Given the description of an element on the screen output the (x, y) to click on. 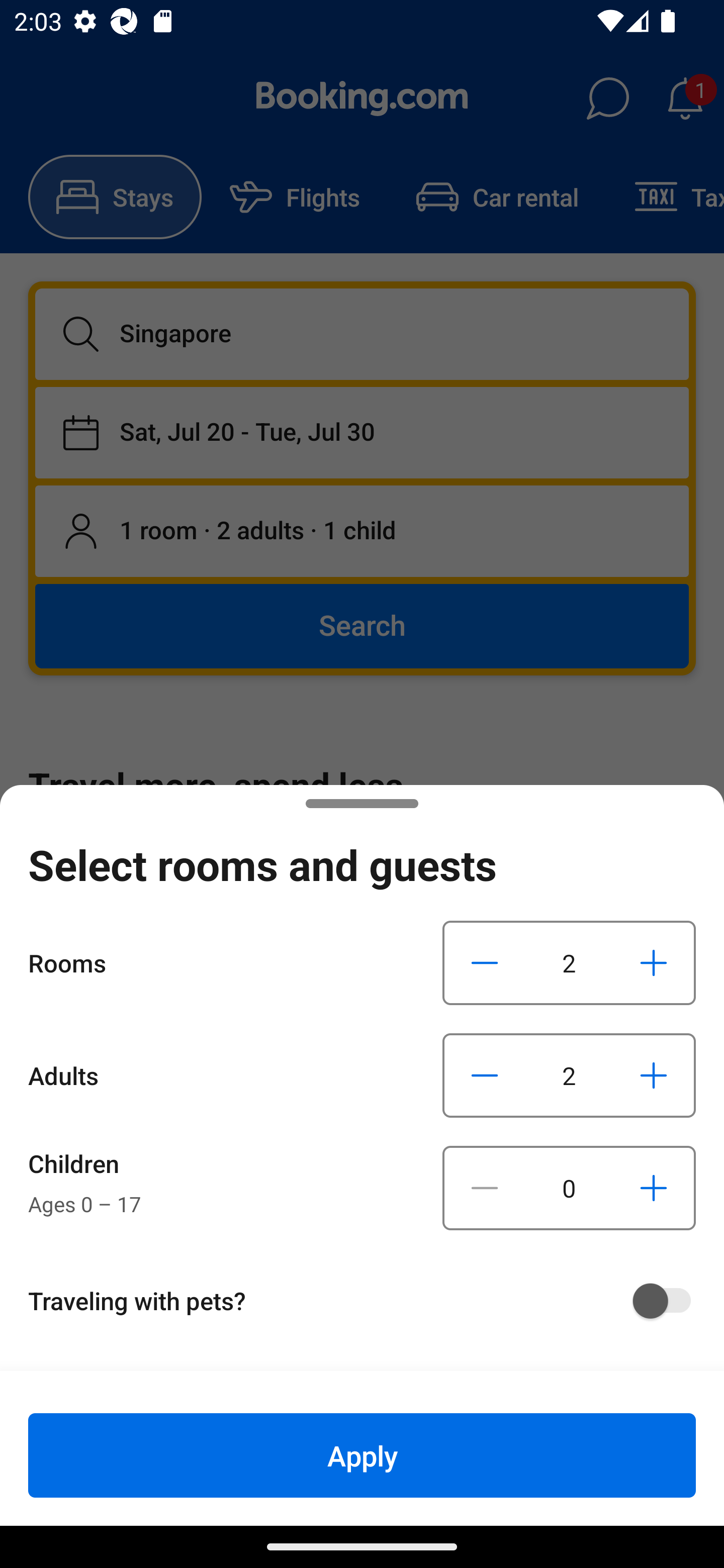
Decrease (484, 962)
Increase (653, 962)
Decrease (484, 1075)
Increase (653, 1075)
Decrease (484, 1188)
Increase (653, 1188)
Traveling with pets? (369, 1300)
Apply (361, 1454)
